Given the description of an element on the screen output the (x, y) to click on. 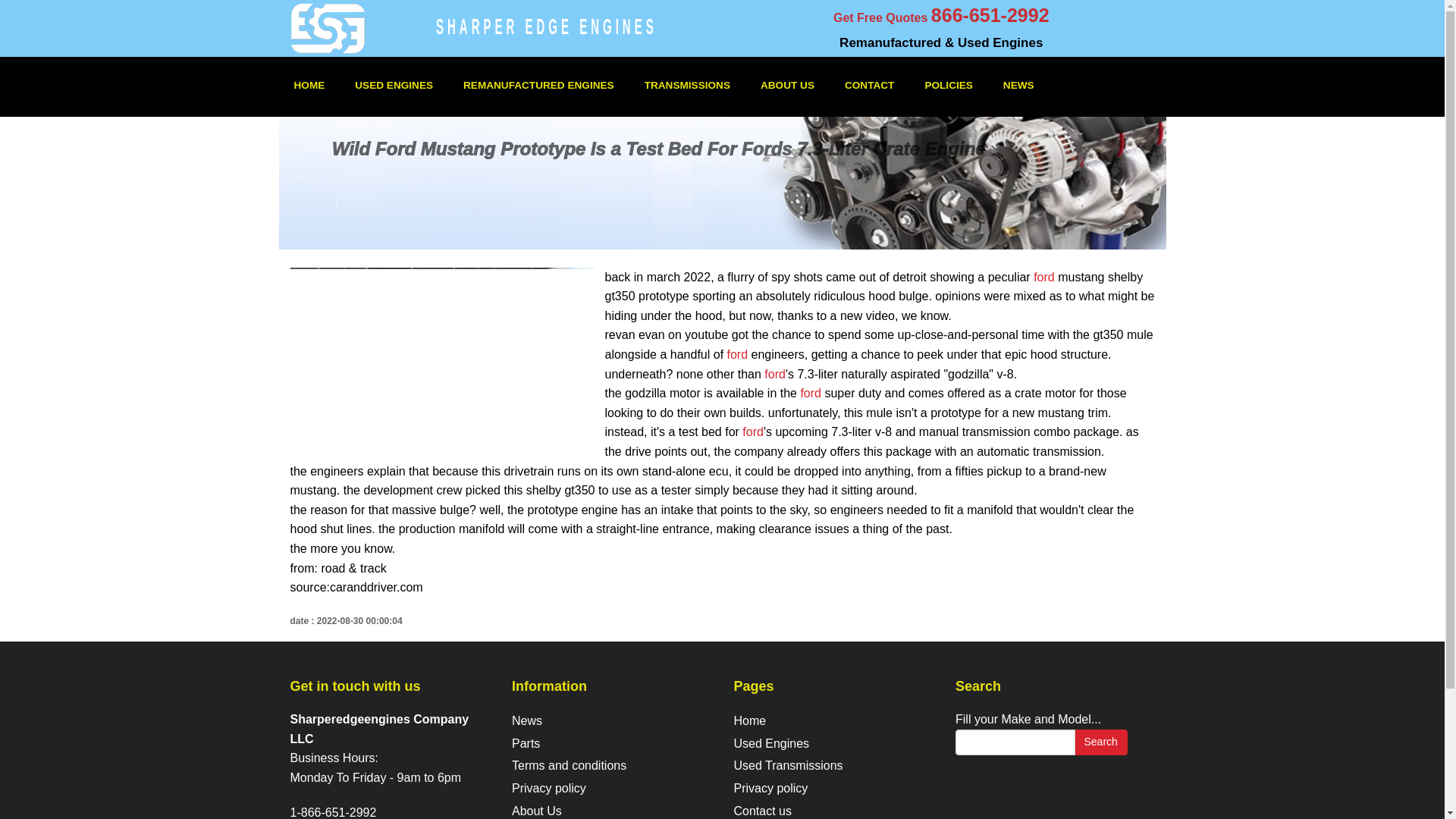
ford (752, 431)
Used Transmissions For Sale (788, 765)
POLICIES (947, 85)
Used Engines (771, 743)
SHARPER EDGE ENGINES (546, 19)
CONTACT (868, 85)
About Us (537, 810)
Terms and conditions (569, 765)
Contact us (762, 810)
Used Engines For Sale (771, 743)
